Given the description of an element on the screen output the (x, y) to click on. 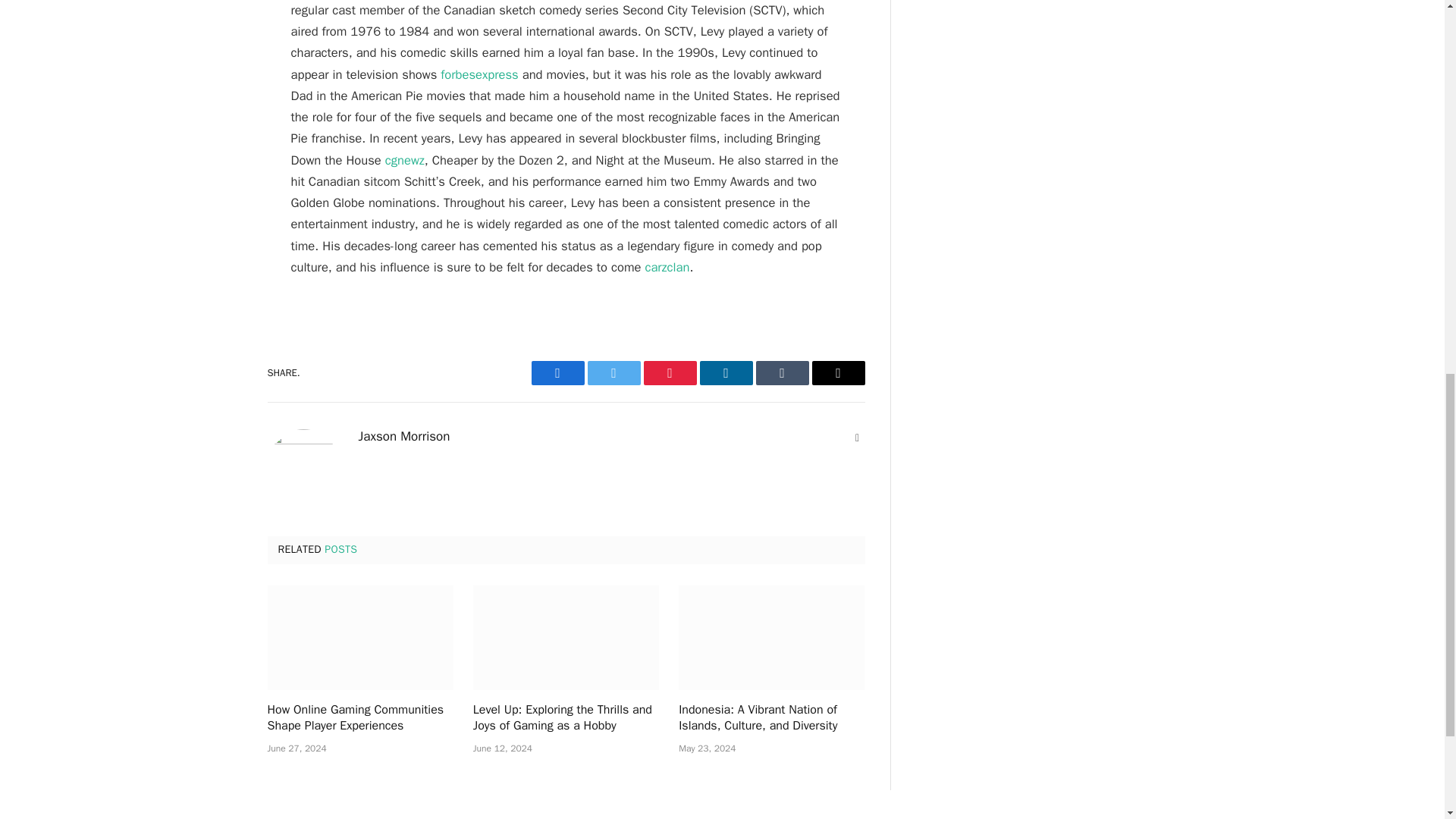
forbesexpress (479, 74)
